Given the description of an element on the screen output the (x, y) to click on. 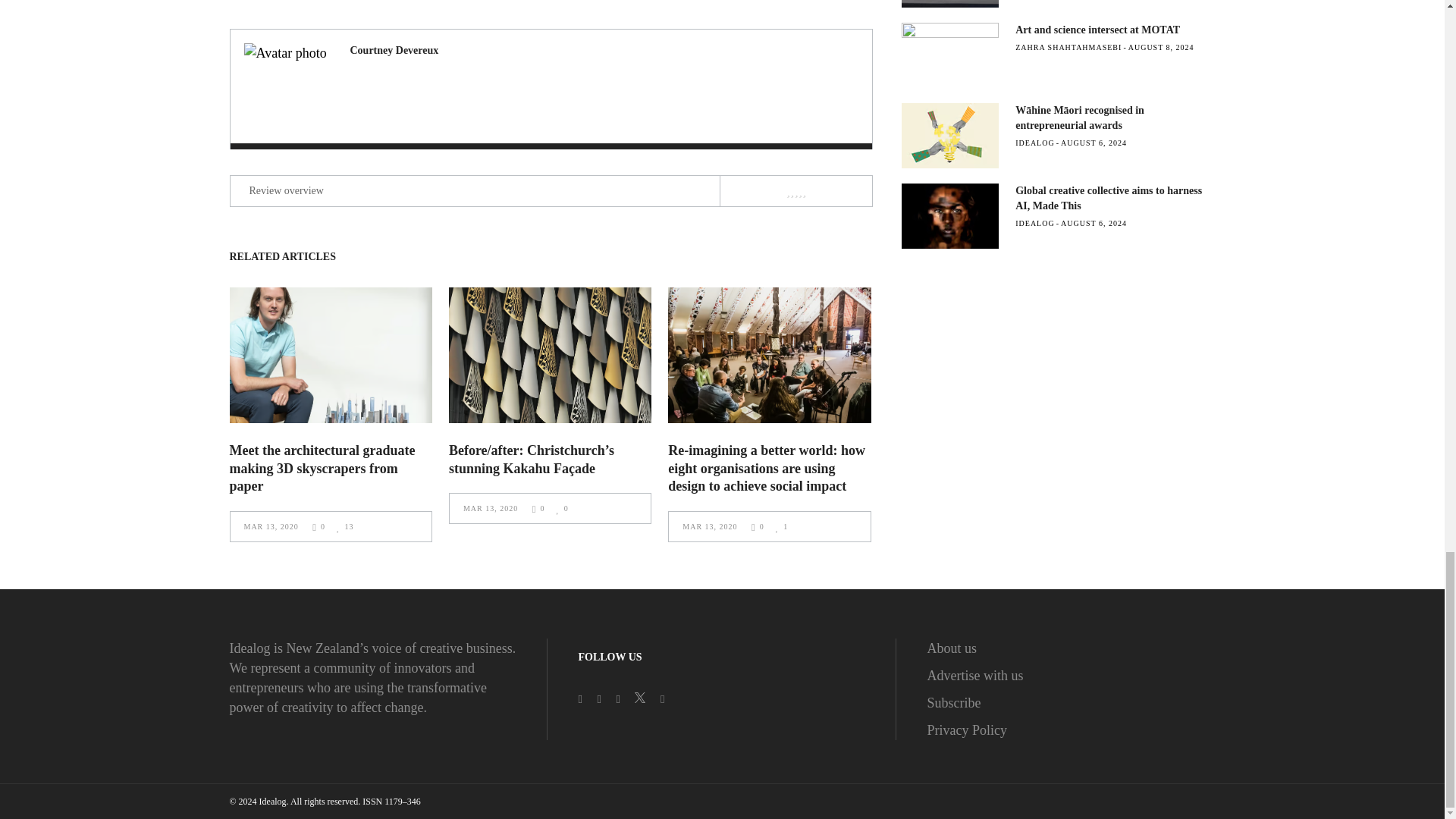
MAR 13, 2020 (272, 526)
Courtney Devereux (394, 50)
Like this (344, 526)
Like this (561, 508)
